Given the description of an element on the screen output the (x, y) to click on. 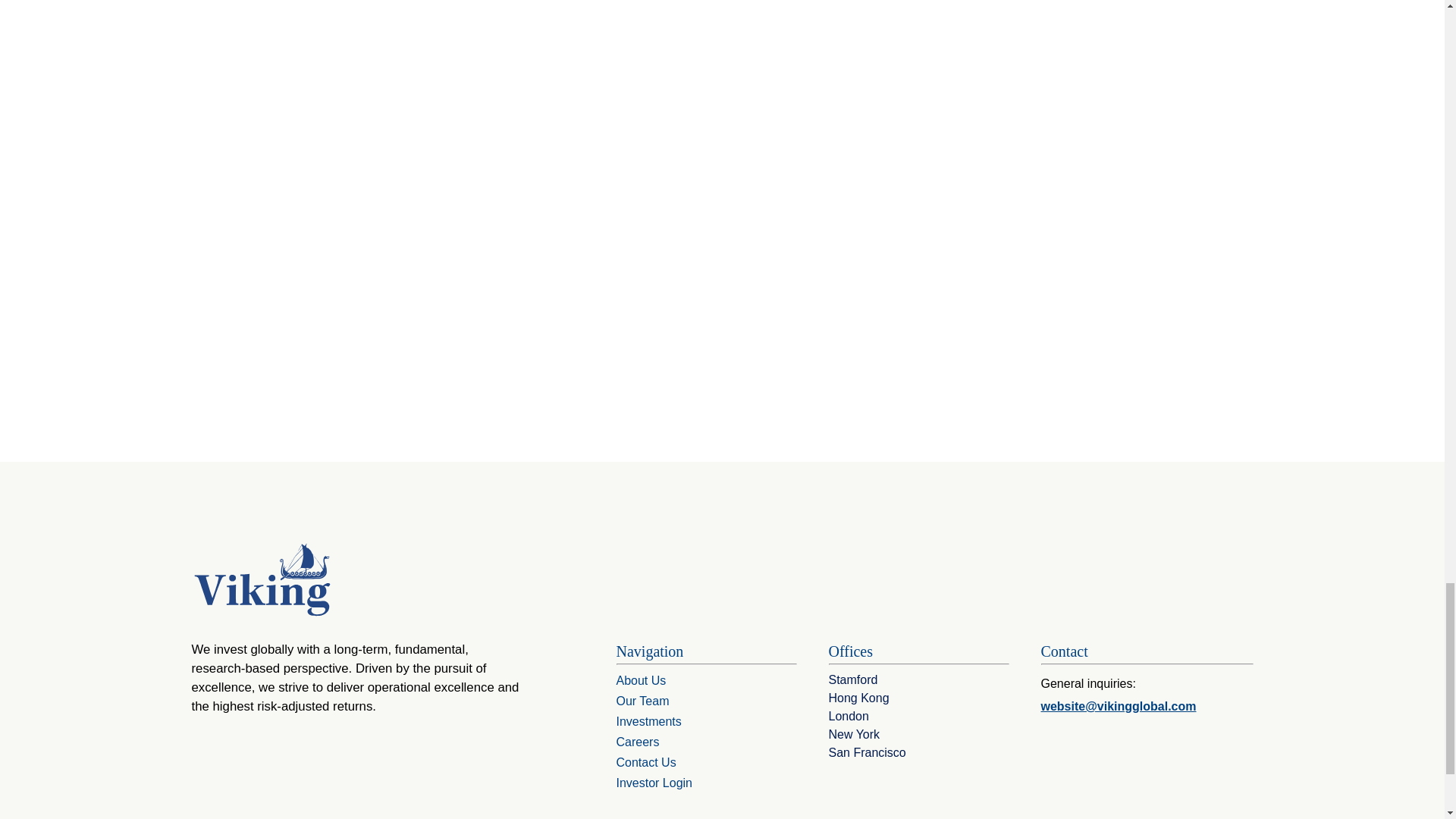
Investor Login (654, 786)
Our Team (641, 704)
Contact Us (645, 764)
footer-logo-1 (261, 579)
Investments (655, 723)
Careers (644, 745)
About Us (648, 682)
